Given the description of an element on the screen output the (x, y) to click on. 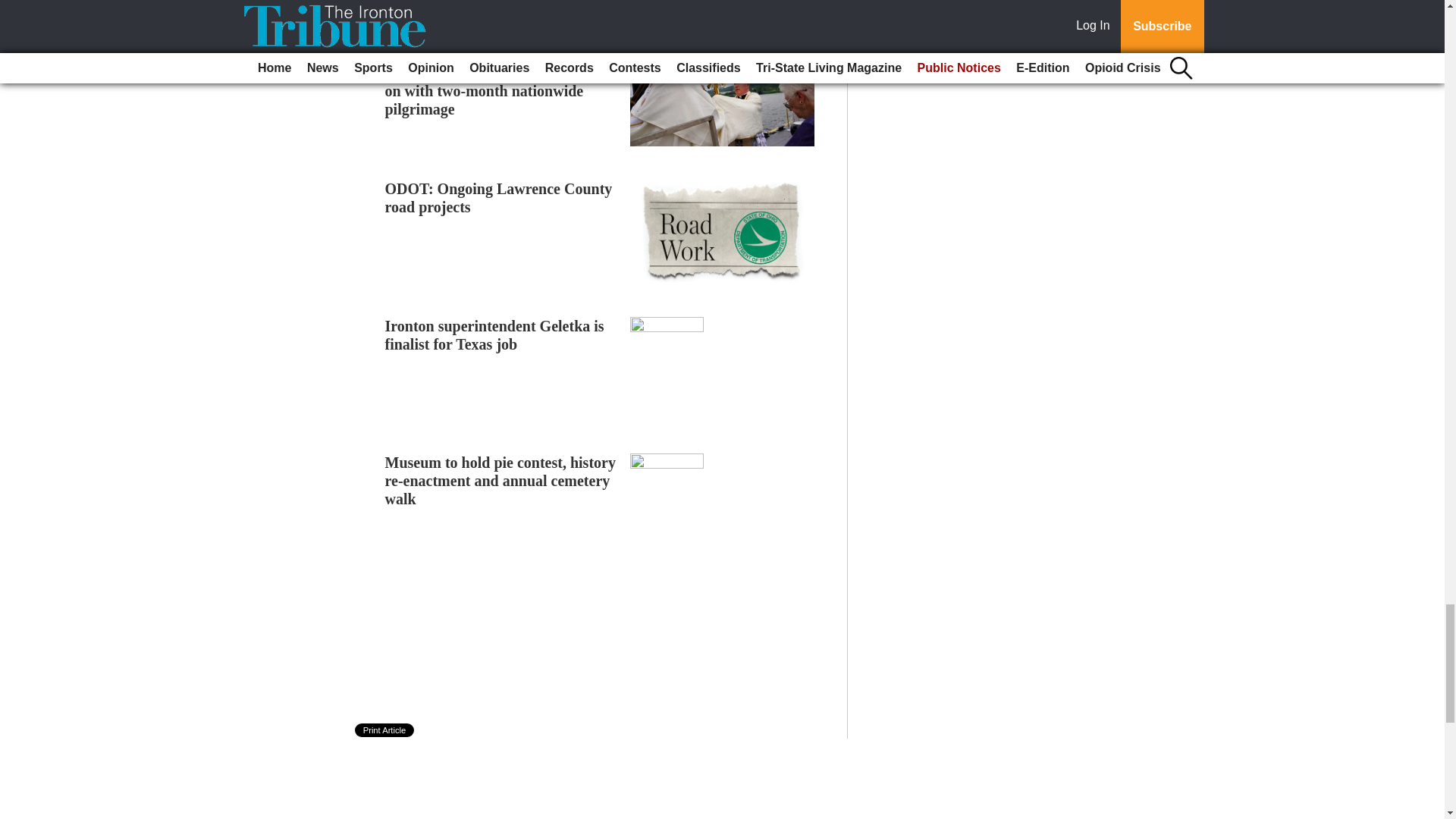
Ironton superintendent Geletka is finalist for Texas job (494, 334)
ODOT: Ongoing Lawrence County road projects (498, 197)
ODOT: Ongoing Lawrence County road projects (498, 197)
Print Article (384, 730)
Ironton superintendent Geletka is finalist for Texas job (494, 334)
